Given the description of an element on the screen output the (x, y) to click on. 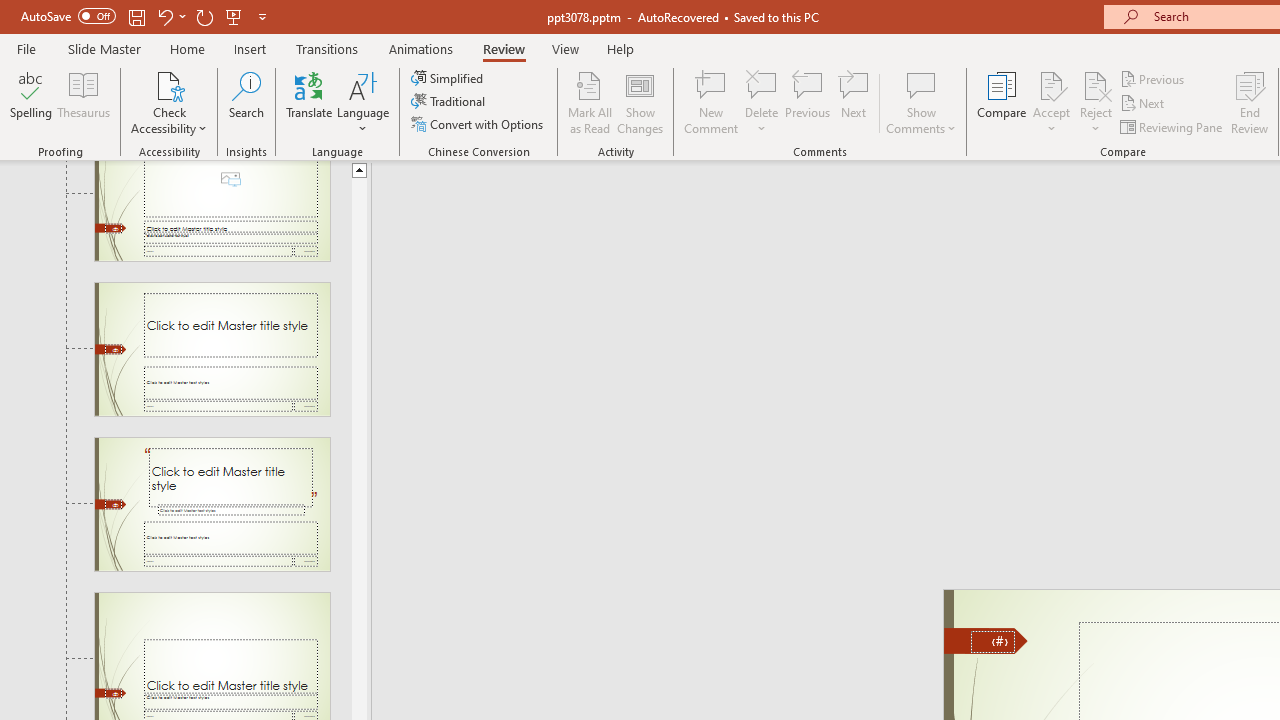
End Review (1249, 102)
Simplified (449, 78)
Accept (1051, 102)
Show Changes (639, 102)
Reviewing Pane (1172, 126)
